Given the description of an element on the screen output the (x, y) to click on. 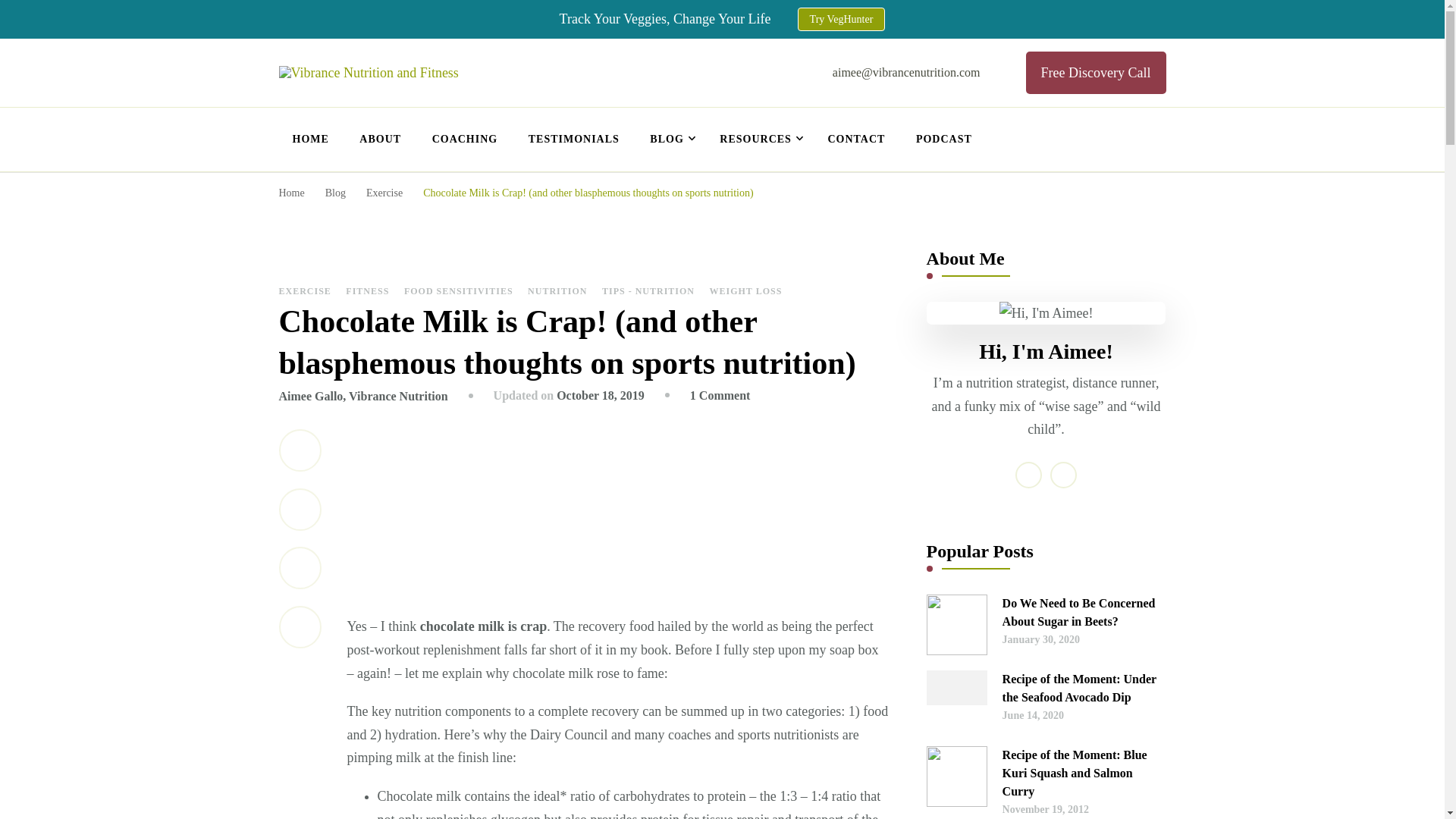
BLOG (668, 139)
Free Discovery Call (1096, 73)
COACHING (465, 139)
CONTACT (855, 139)
Vibrance Nutrition and Fitness (505, 100)
ABOUT (380, 139)
RESOURCES (758, 139)
TESTIMONIALS (574, 139)
Try VegHunter (841, 19)
HOME (310, 139)
